Given the description of an element on the screen output the (x, y) to click on. 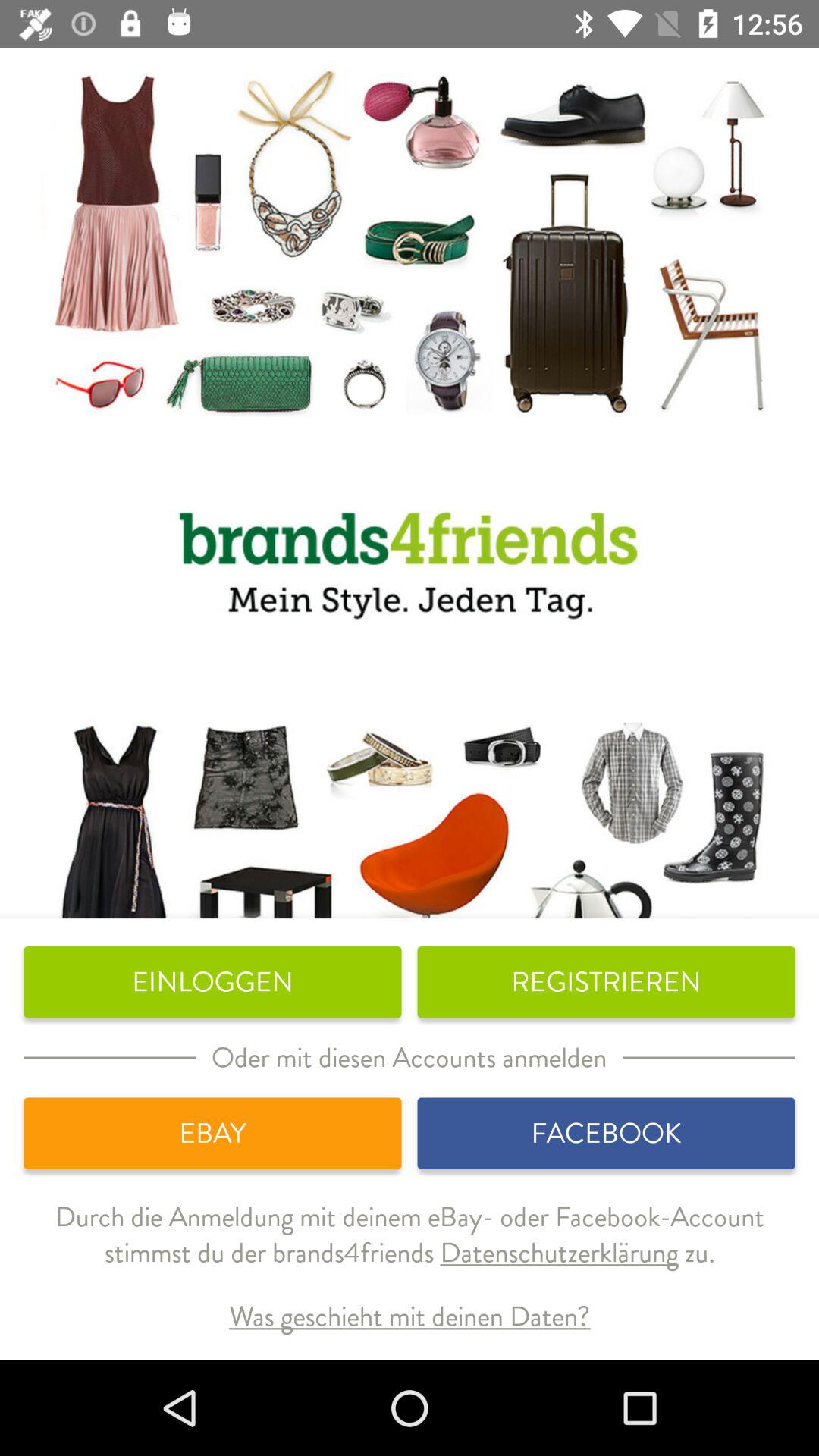
turn on the einloggen (212, 982)
